Given the description of an element on the screen output the (x, y) to click on. 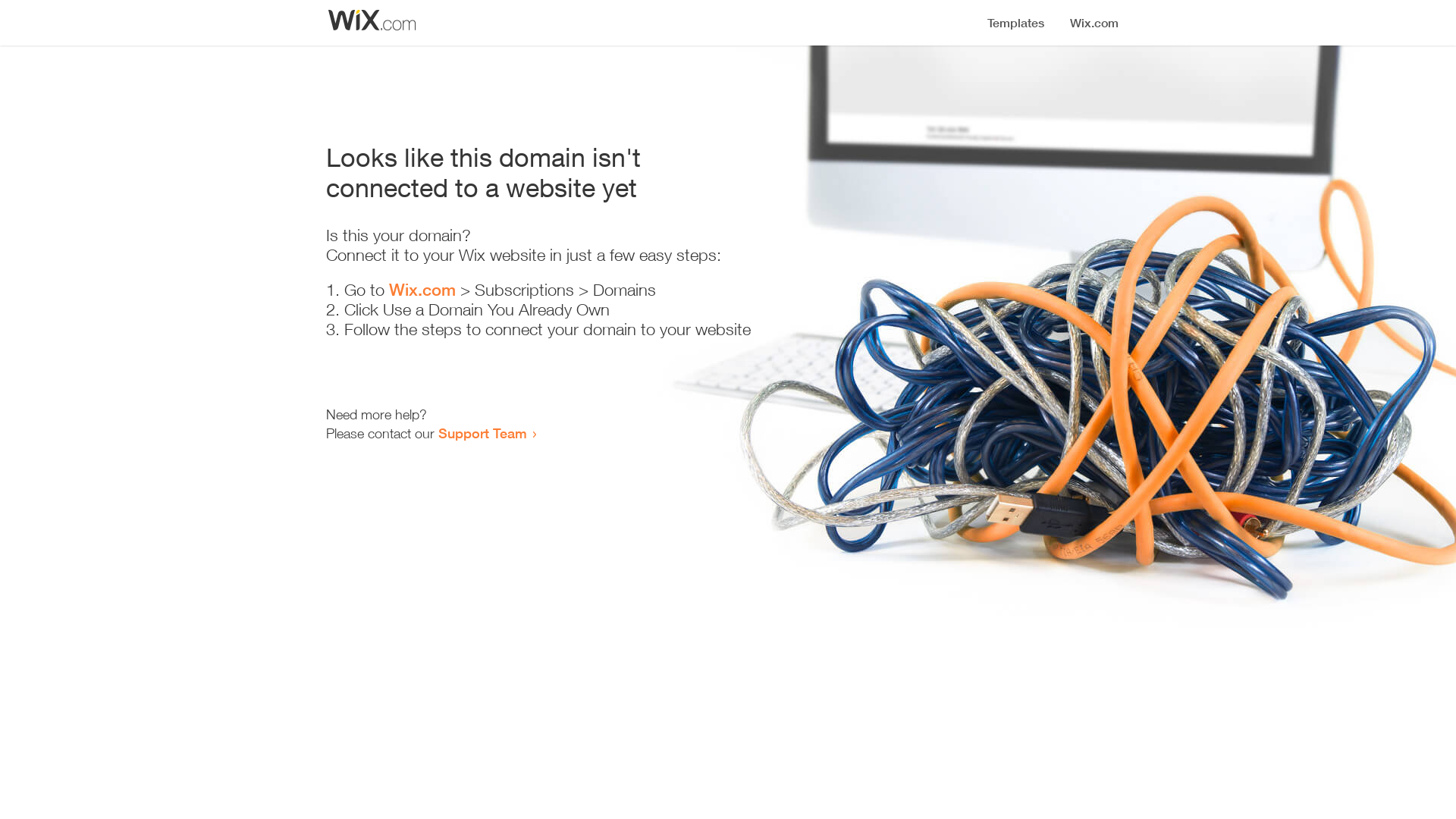
Support Team Element type: text (482, 432)
Wix.com Element type: text (422, 289)
